Given the description of an element on the screen output the (x, y) to click on. 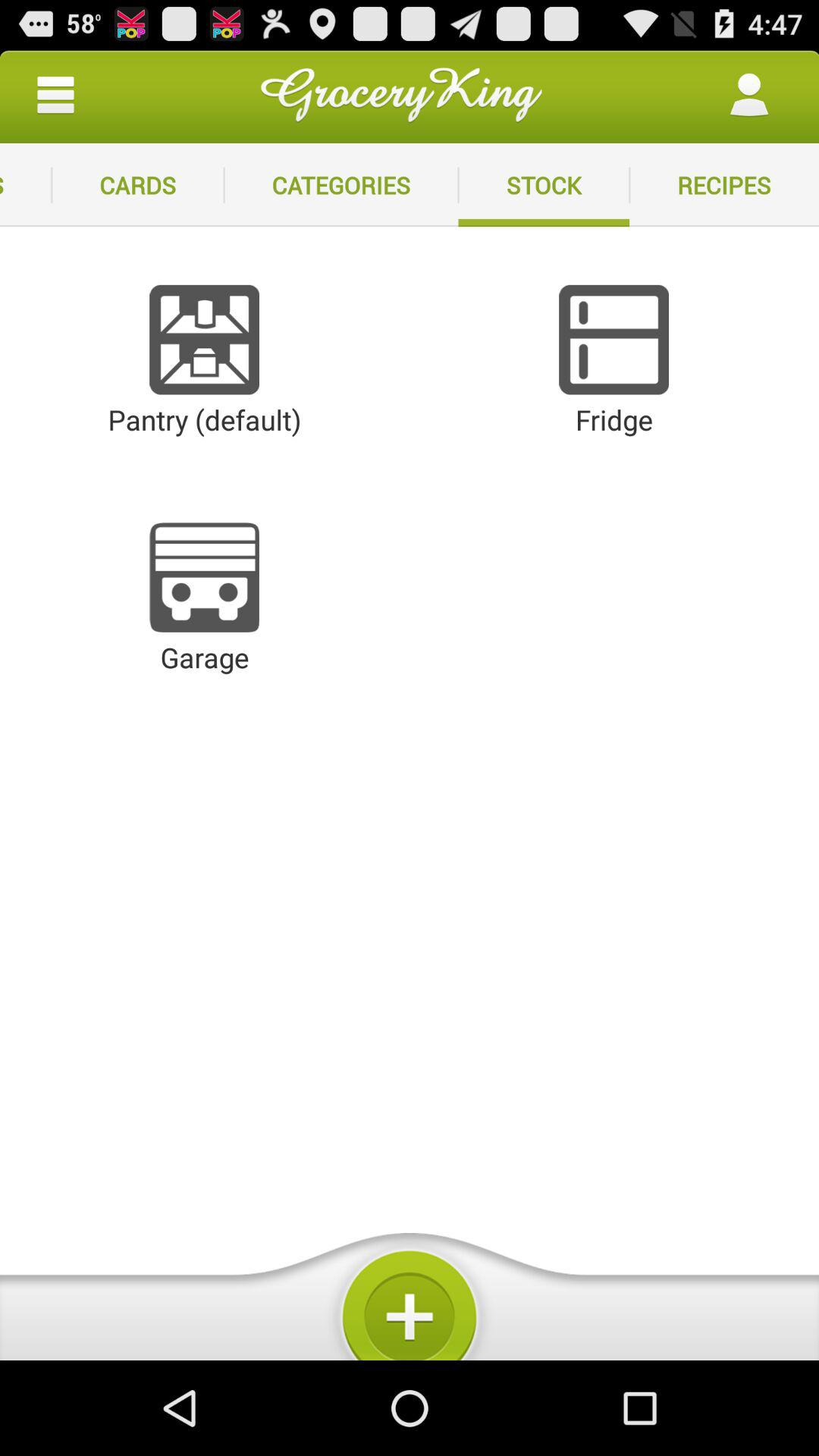
choose item next to lists icon (137, 184)
